Given the description of an element on the screen output the (x, y) to click on. 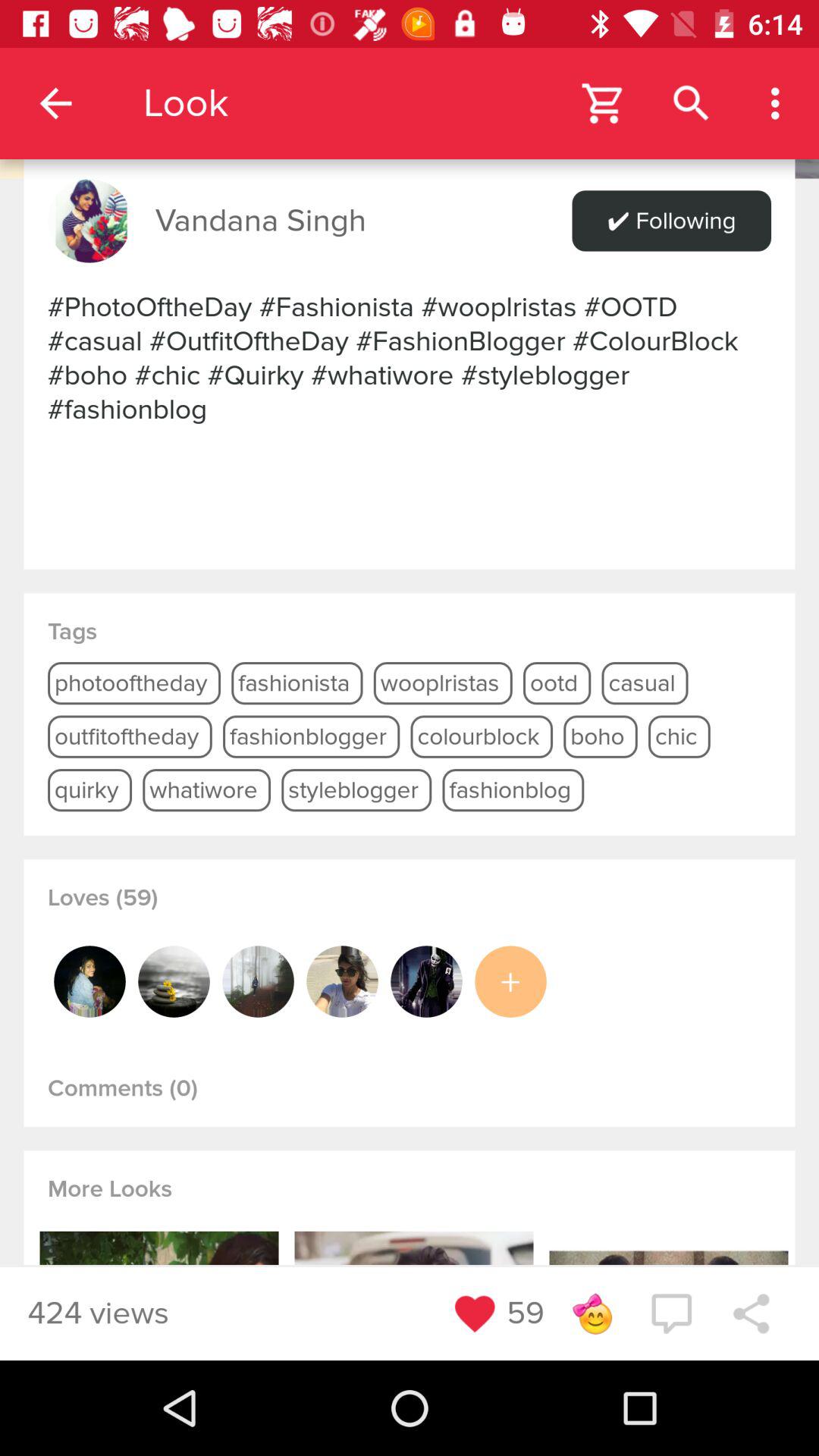
post comment (671, 1313)
